Given the description of an element on the screen output the (x, y) to click on. 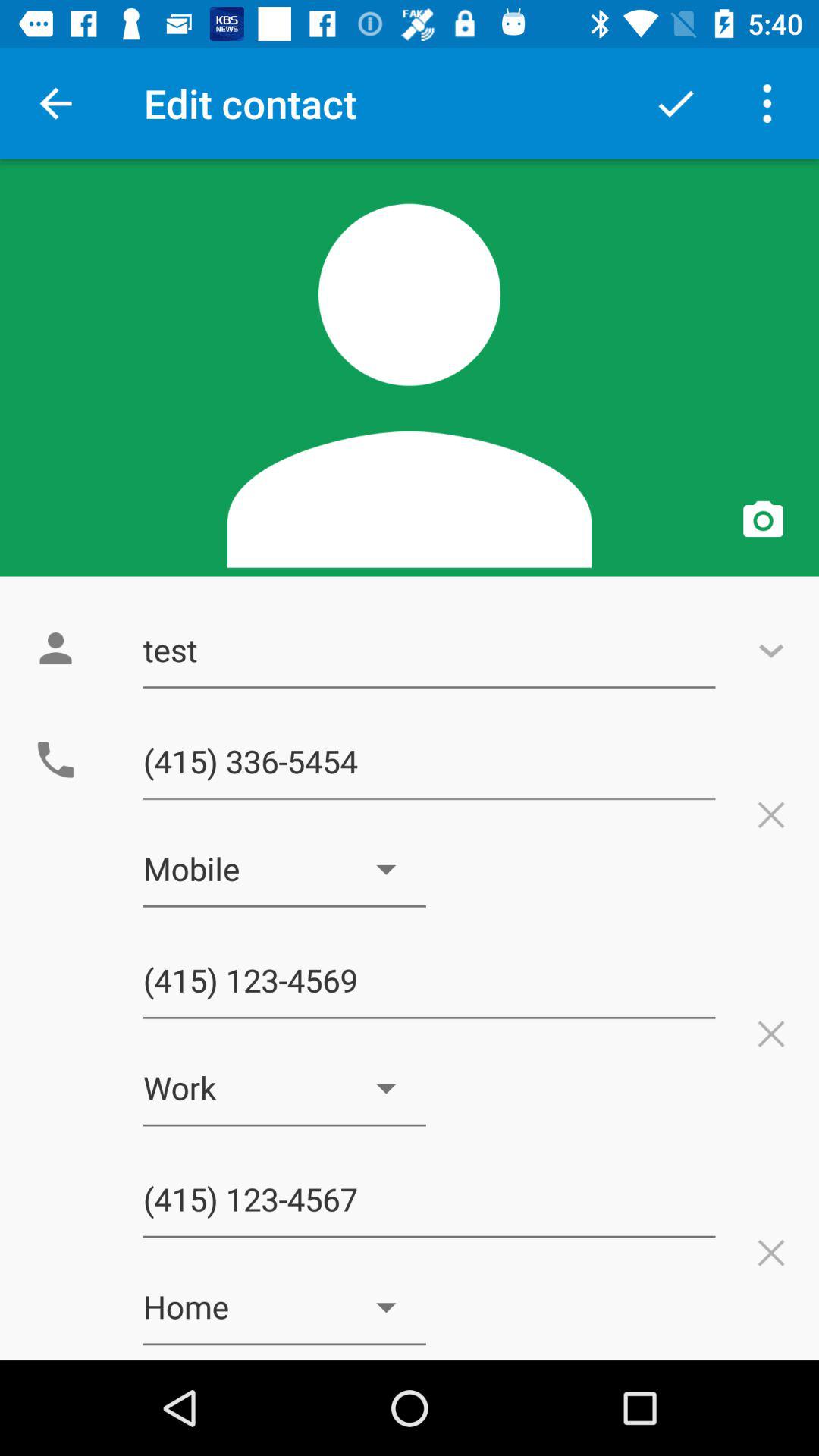
menu button at top right (771, 103)
select first cross button from bottom (771, 1252)
click on account icon beside test (55, 648)
click on the phone number below work (429, 1199)
option left to menu button at top right (675, 103)
select the phone number on second text field from top (429, 761)
